Given the description of an element on the screen output the (x, y) to click on. 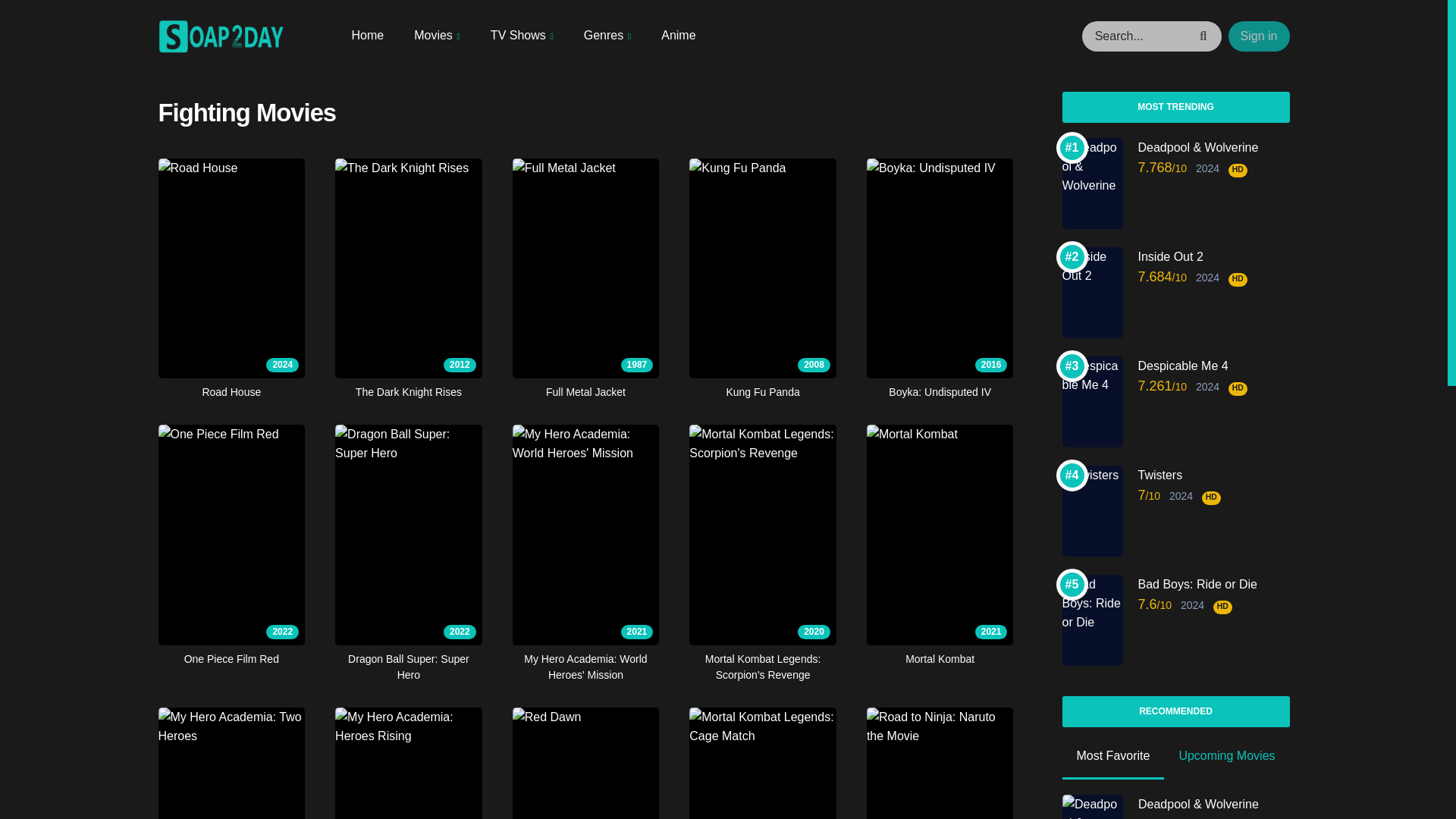
TV Shows (521, 35)
Movies (436, 35)
Home (368, 34)
Sign in (1259, 36)
Genres (606, 35)
Anime (678, 34)
